Given the description of an element on the screen output the (x, y) to click on. 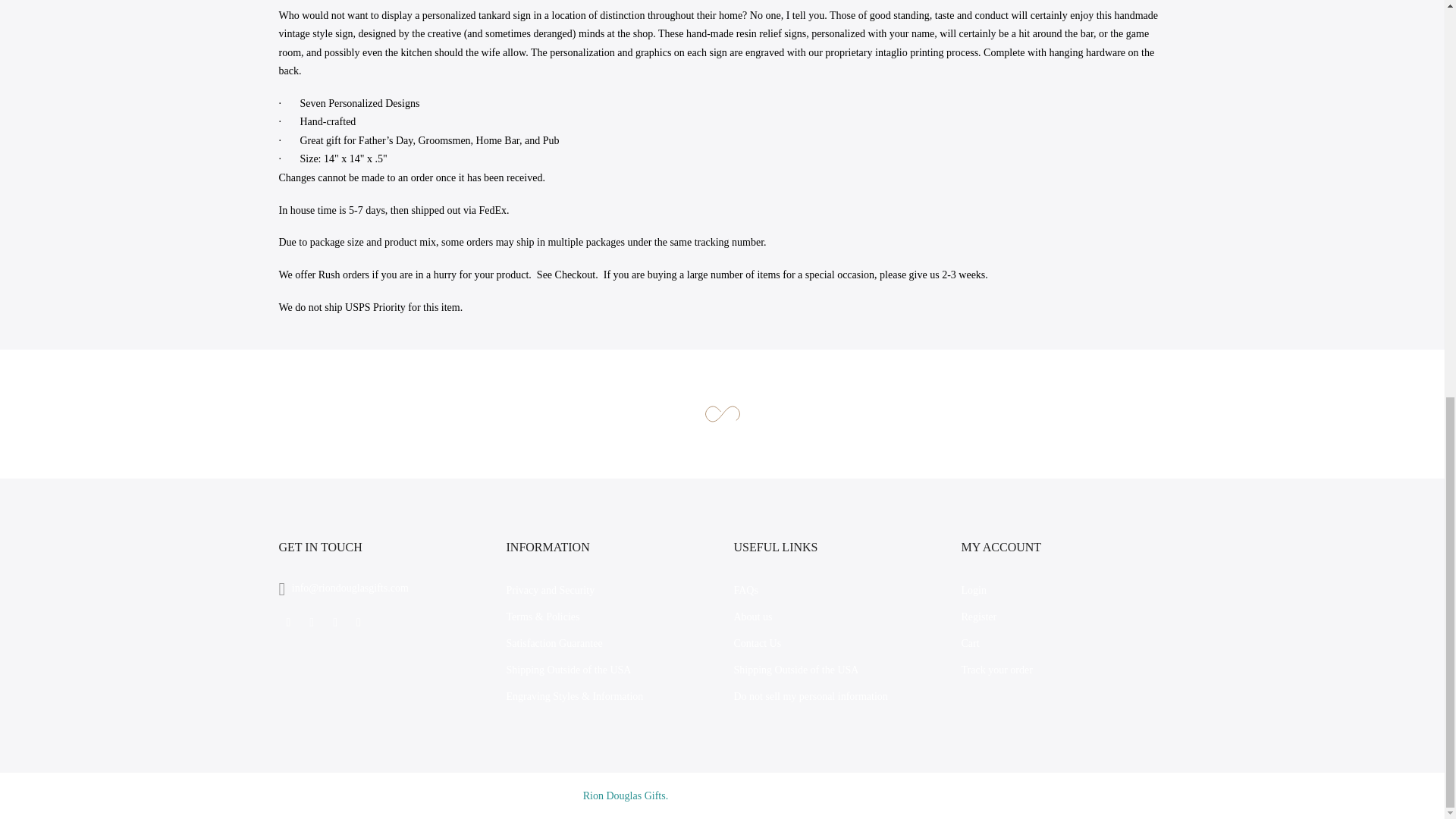
Login (973, 590)
Satisfaction Guarantee (554, 643)
Do not sell my personal information (810, 696)
Shipping Outside of the USA (568, 669)
Contact Us (757, 643)
About us (753, 616)
FAQs (745, 590)
Shipping Outside of the USA (796, 669)
Privacy and Security (550, 590)
